Given the description of an element on the screen output the (x, y) to click on. 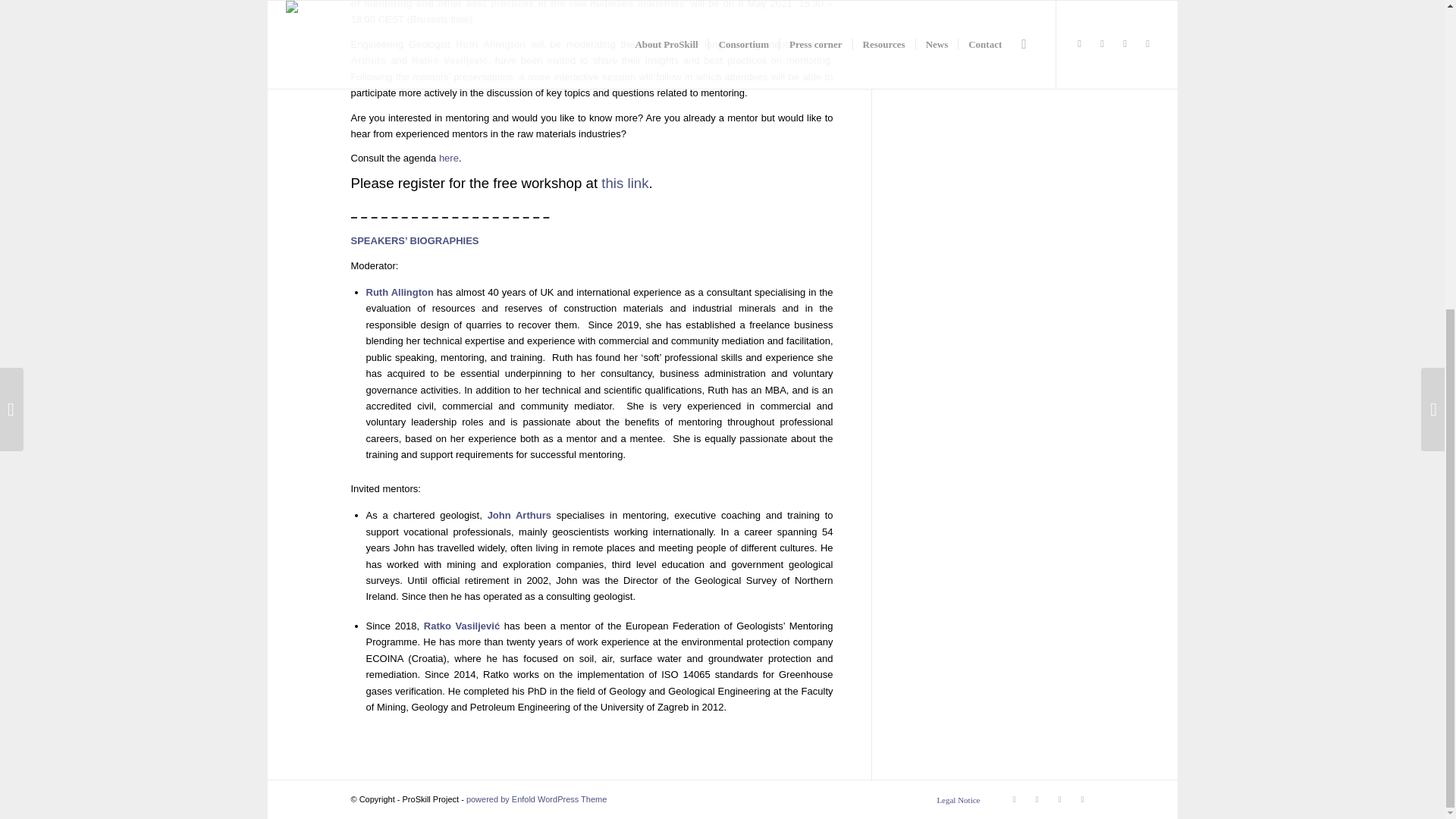
here (448, 157)
this link (624, 182)
powered by Enfold WordPress Theme (536, 798)
